Given the description of an element on the screen output the (x, y) to click on. 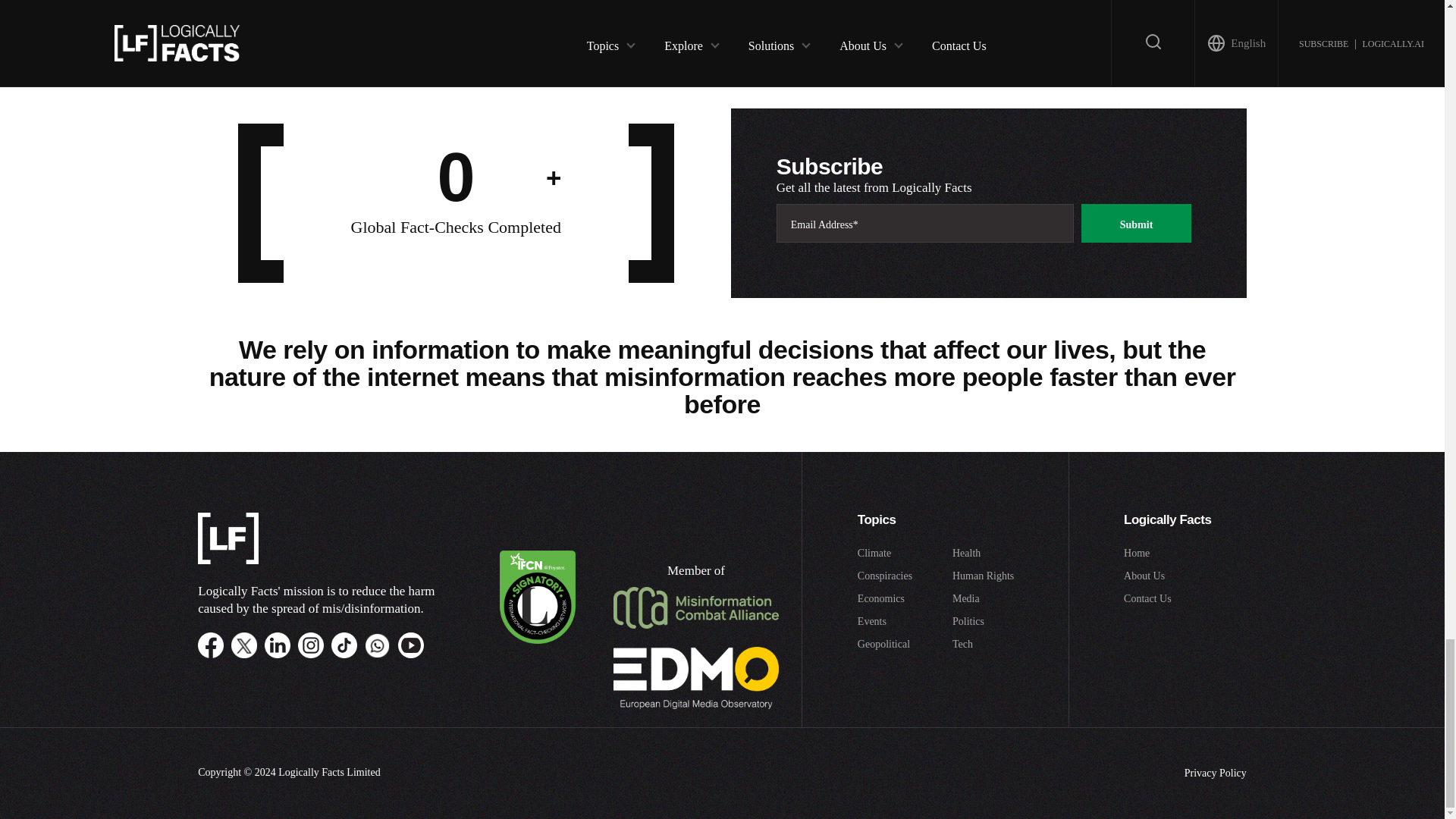
IFCN signatory (537, 639)
Submit (1136, 222)
Submit (588, 10)
